Given the description of an element on the screen output the (x, y) to click on. 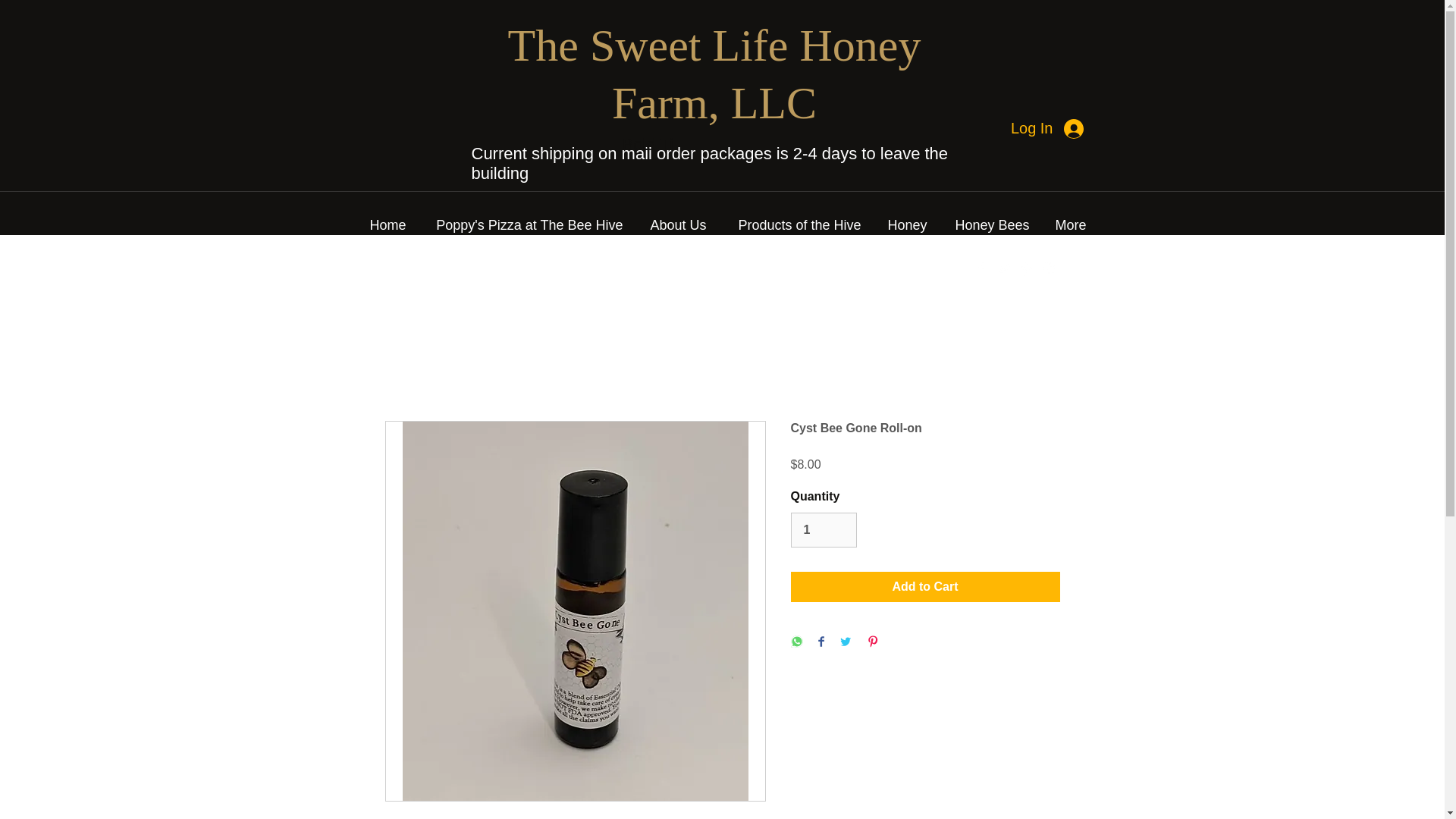
Poppy's Pizza at The Bee Hive (521, 225)
Home (381, 225)
Honey Bees (985, 225)
Log In (1048, 127)
About Us (672, 225)
1 (823, 529)
Add to Cart (924, 586)
Products of the Hive (791, 225)
Honey (901, 225)
